Given the description of an element on the screen output the (x, y) to click on. 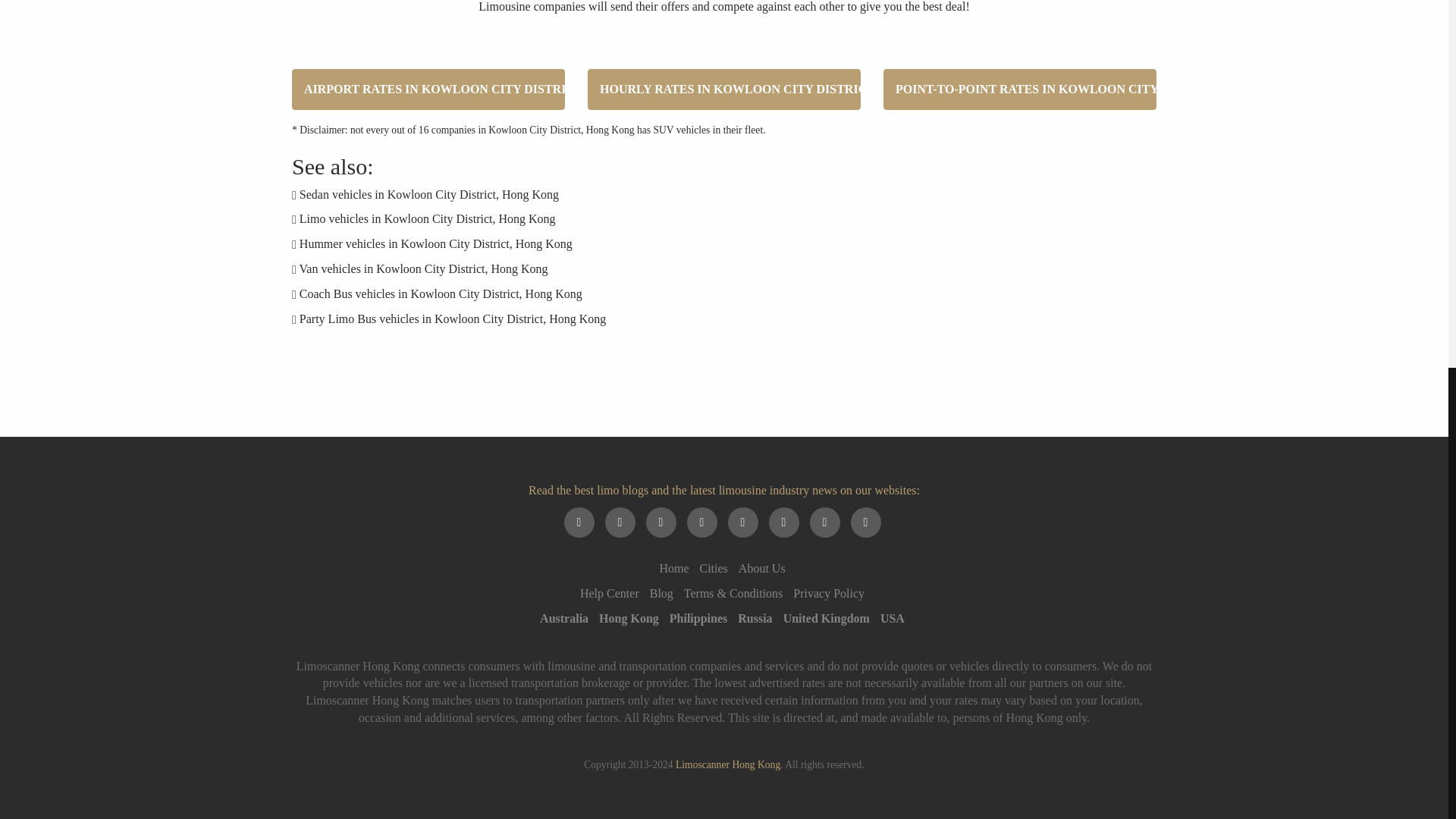
Limo vehicles in Kowloon City District, Hong Kong (427, 218)
Hummer vehicles in Kowloon City District, Hong Kong (435, 243)
Hummer vehicles in Kowloon City District, Hong Kong (435, 243)
Sedan vehicles in Kowloon City District, Hong Kong (429, 193)
POINT-TO-POINT RATES IN KOWLOON CITY DISTRICT (1019, 88)
Limo vehicles in Kowloon City District, Hong Kong (427, 218)
Sedan vehicles in Kowloon City District, Hong Kong (429, 193)
Van vehicles in Kowloon City District, Hong Kong (423, 268)
Coach Bus vehicles in Kowloon City District, Hong Kong (440, 293)
Party Limo Bus vehicles in Kowloon City District, Hong Kong (452, 318)
